Given the description of an element on the screen output the (x, y) to click on. 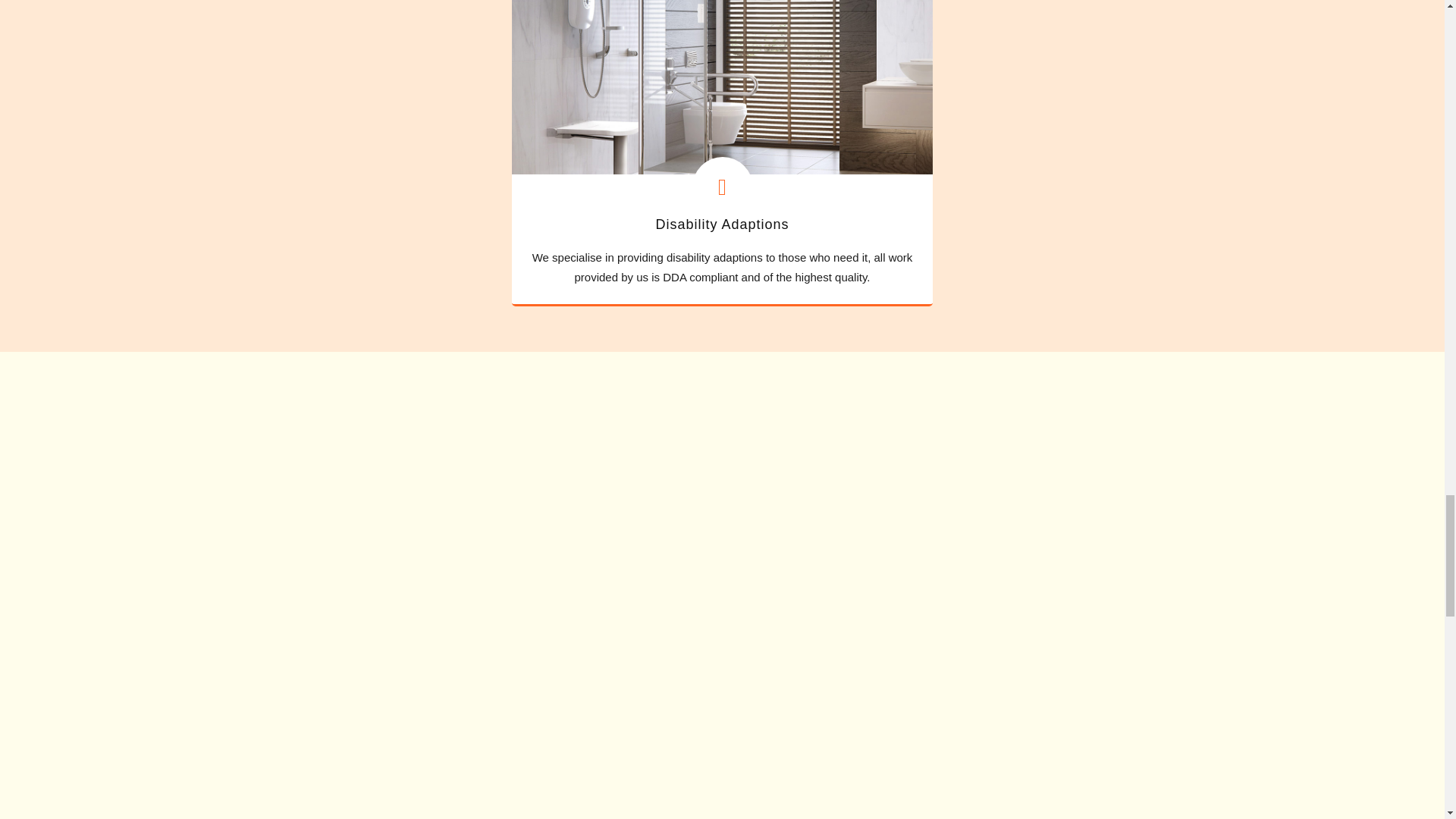
One Call - Phillipa Testimonial (425, 750)
Paula - testimonial (722, 750)
